Given the description of an element on the screen output the (x, y) to click on. 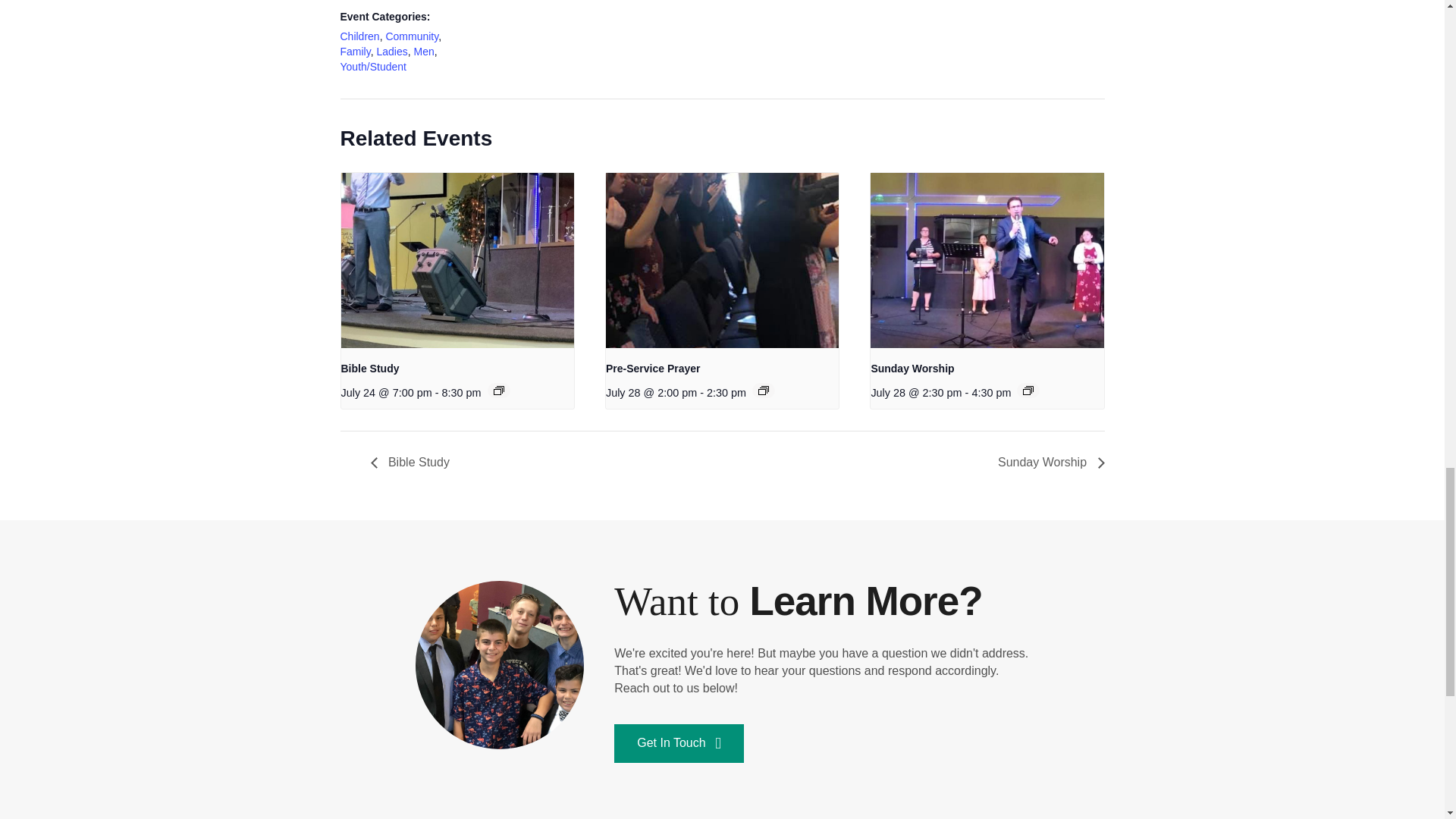
Community (411, 36)
young people smiling at Medford Life Church (499, 665)
Event Series (763, 389)
Children (358, 36)
Bible Study (369, 368)
Event Series (1028, 389)
Men (423, 51)
Ladies (391, 51)
Family (354, 51)
Event Series (498, 389)
